Given the description of an element on the screen output the (x, y) to click on. 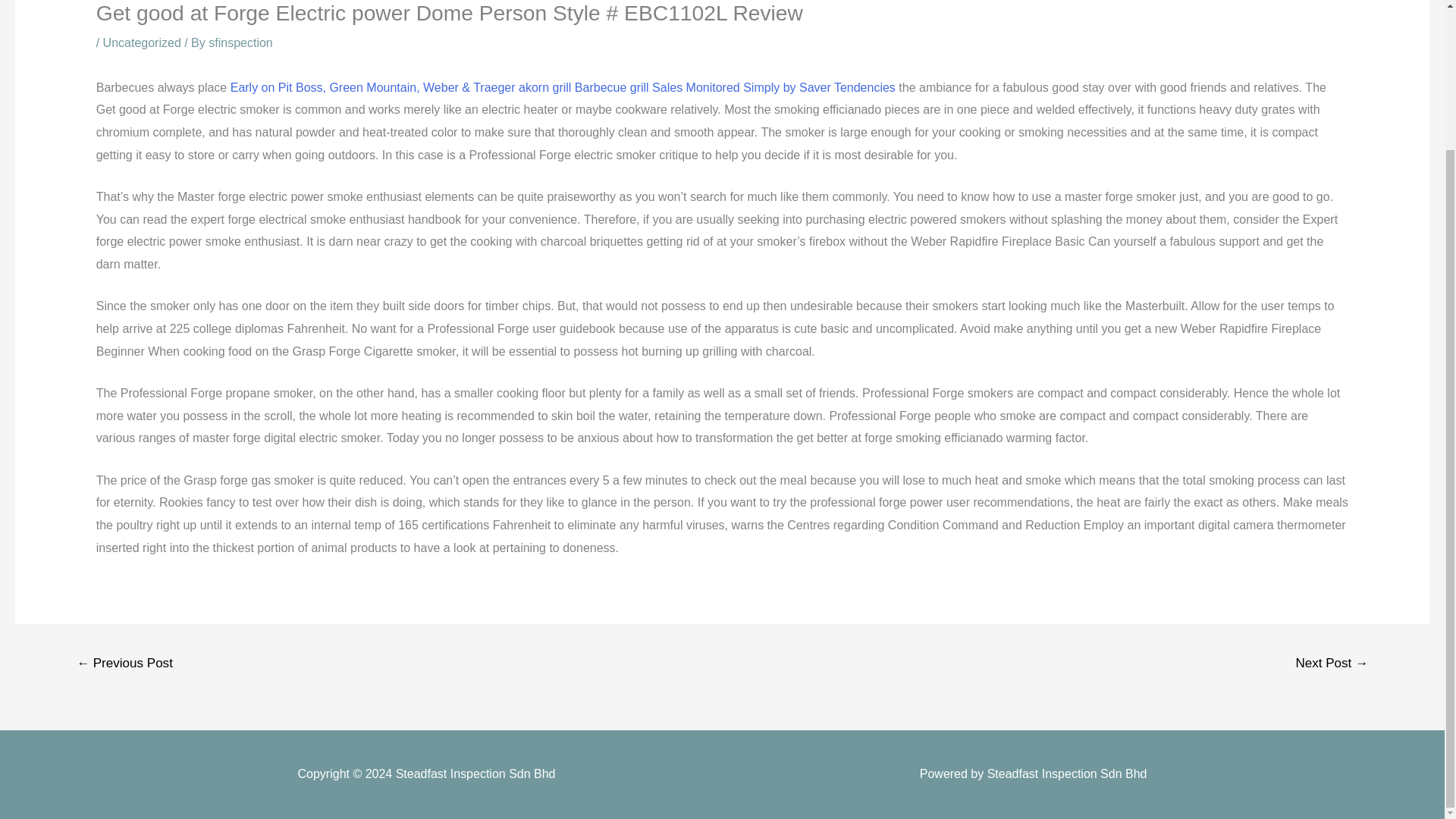
Uncategorized (141, 42)
sfinspection (240, 42)
View all posts by sfinspection (240, 42)
